Given the description of an element on the screen output the (x, y) to click on. 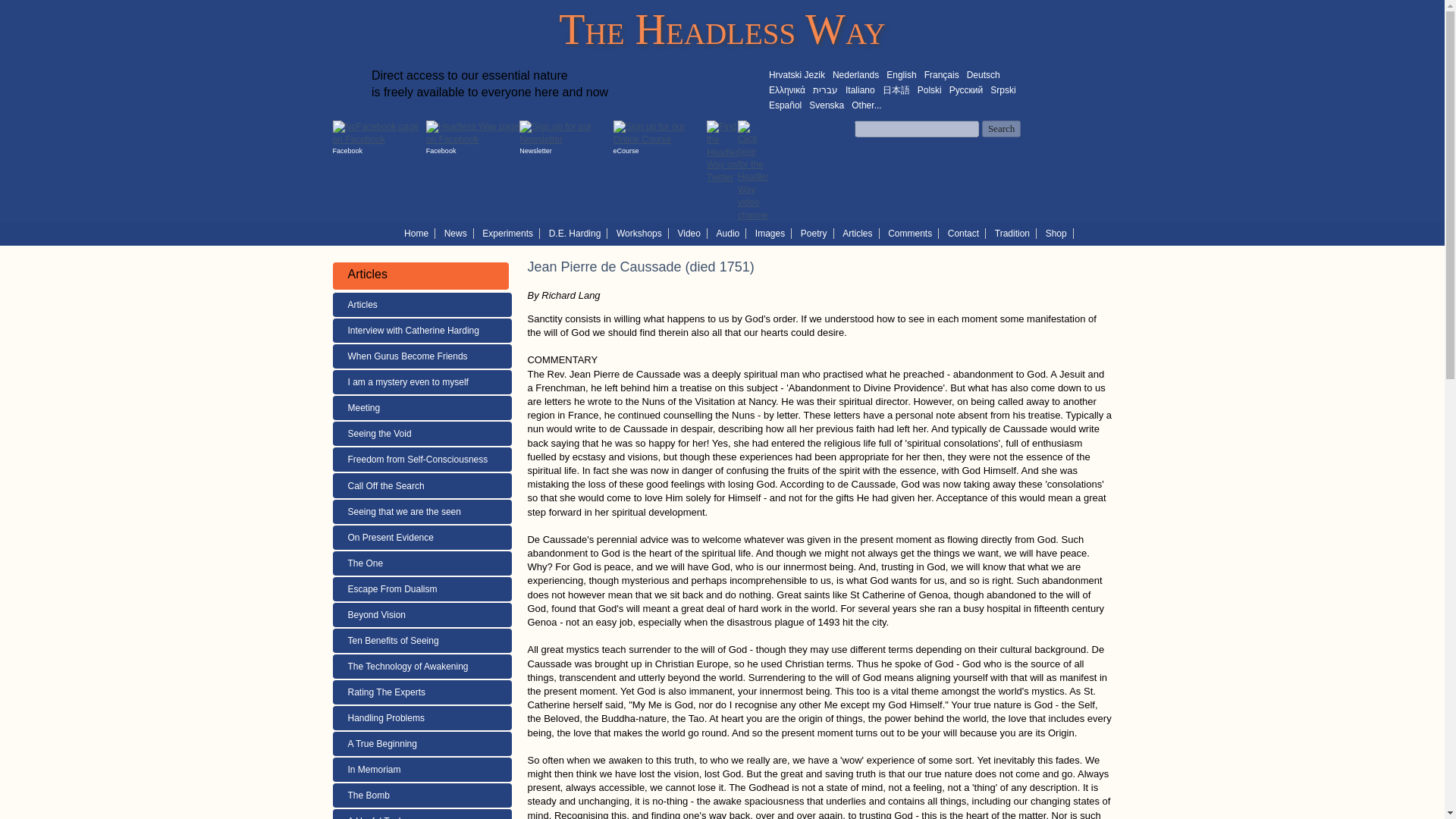
English (900, 74)
Twitter (722, 151)
Search (1000, 128)
Svenska (826, 104)
Srpski (1002, 90)
News (459, 232)
Nederlands (855, 74)
Deutsch (983, 74)
Youtube (753, 170)
Italiano (860, 90)
Other... (865, 104)
Search (1000, 128)
Experiments (510, 232)
Polski (929, 90)
Hrvatski Jezik (796, 74)
